Given the description of an element on the screen output the (x, y) to click on. 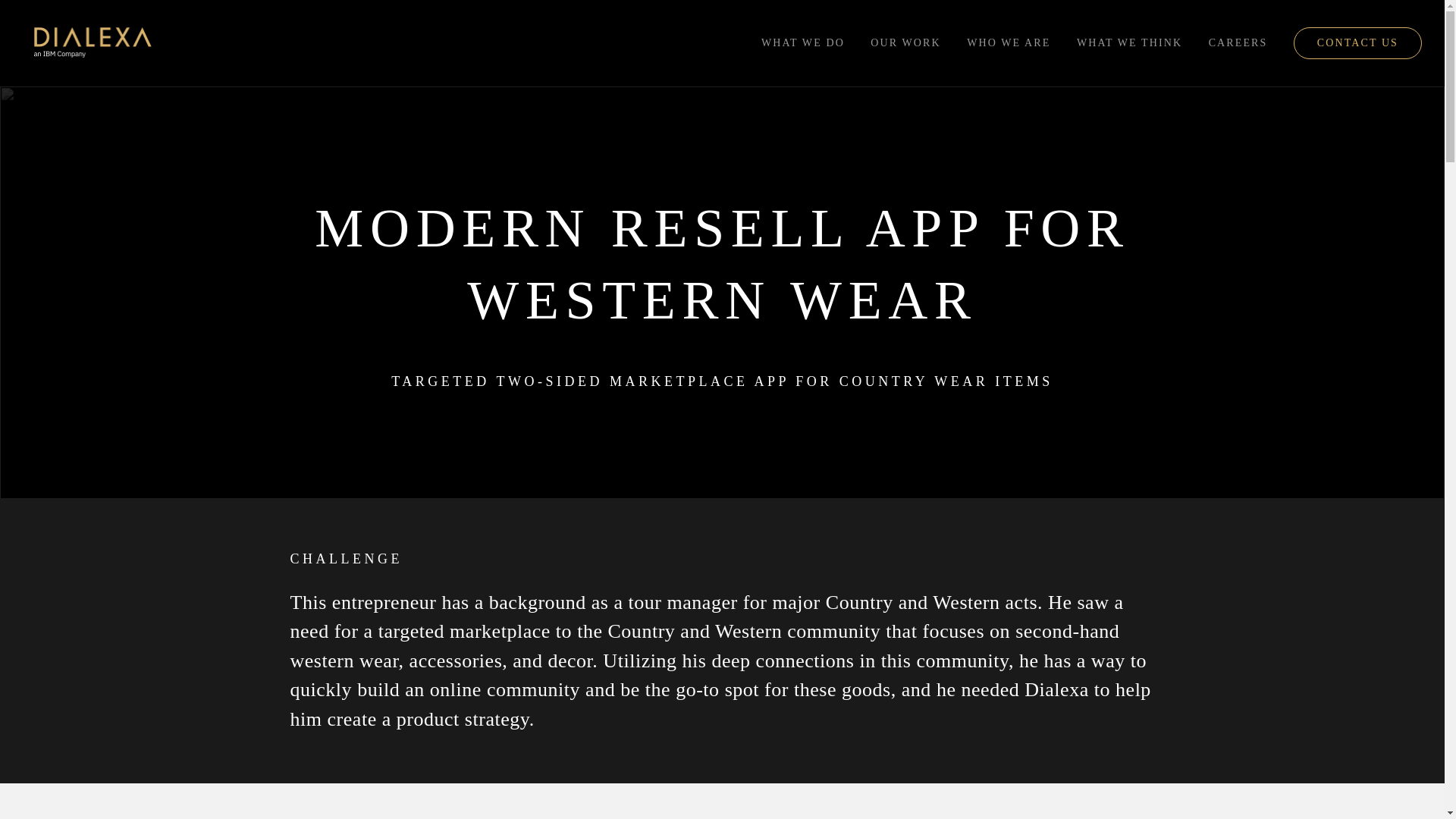
CAREERS (1238, 42)
WHAT WE THINK (1129, 42)
WHO WE ARE (1007, 42)
WHAT WE DO (802, 42)
CONTACT US (1358, 42)
OUR WORK (905, 42)
